Given the description of an element on the screen output the (x, y) to click on. 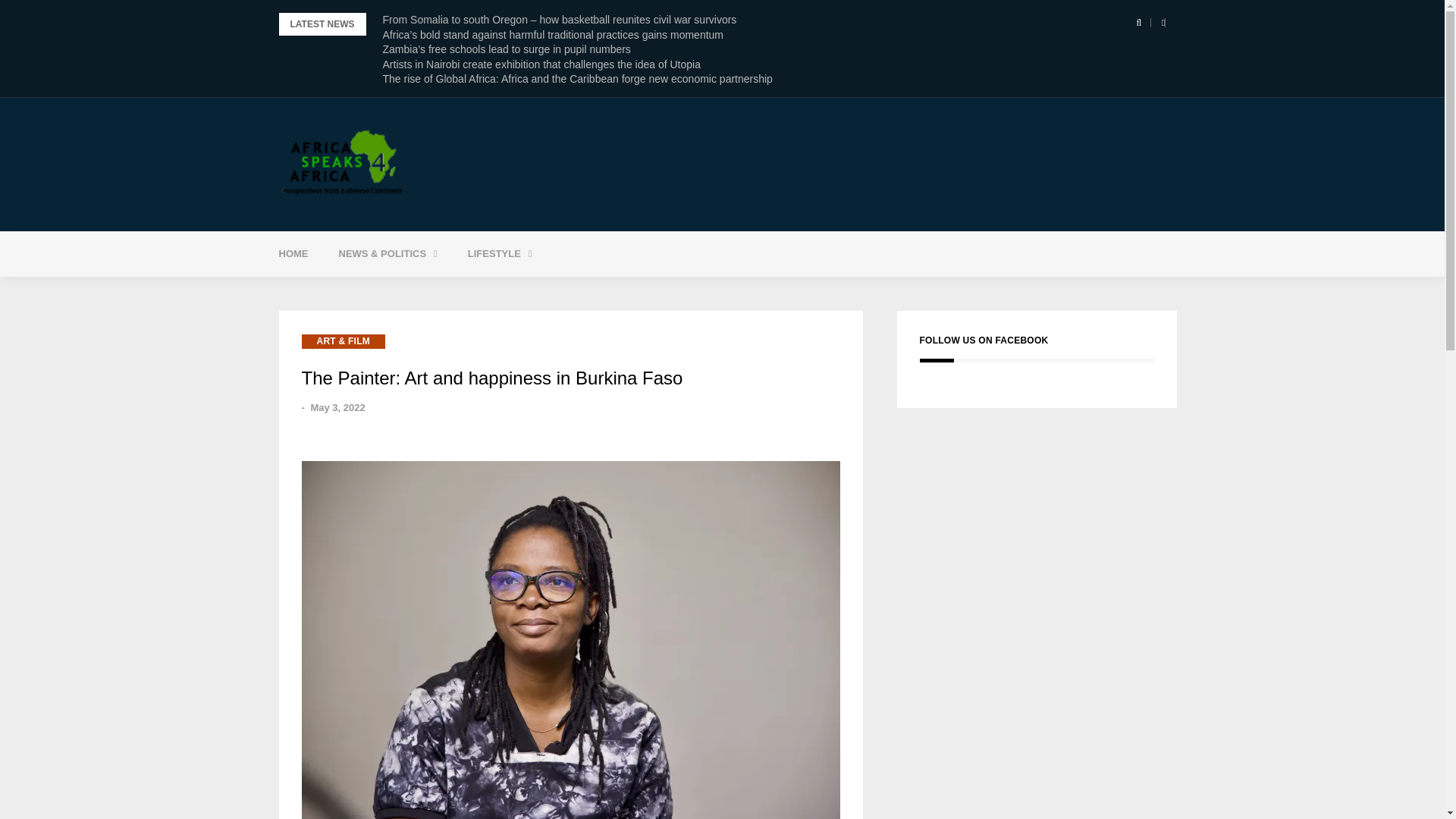
Home (293, 253)
Lifestyle (499, 253)
In The News (425, 291)
May 3, 2022 (337, 407)
In The News (425, 291)
LIFESTYLE (499, 253)
